Given the description of an element on the screen output the (x, y) to click on. 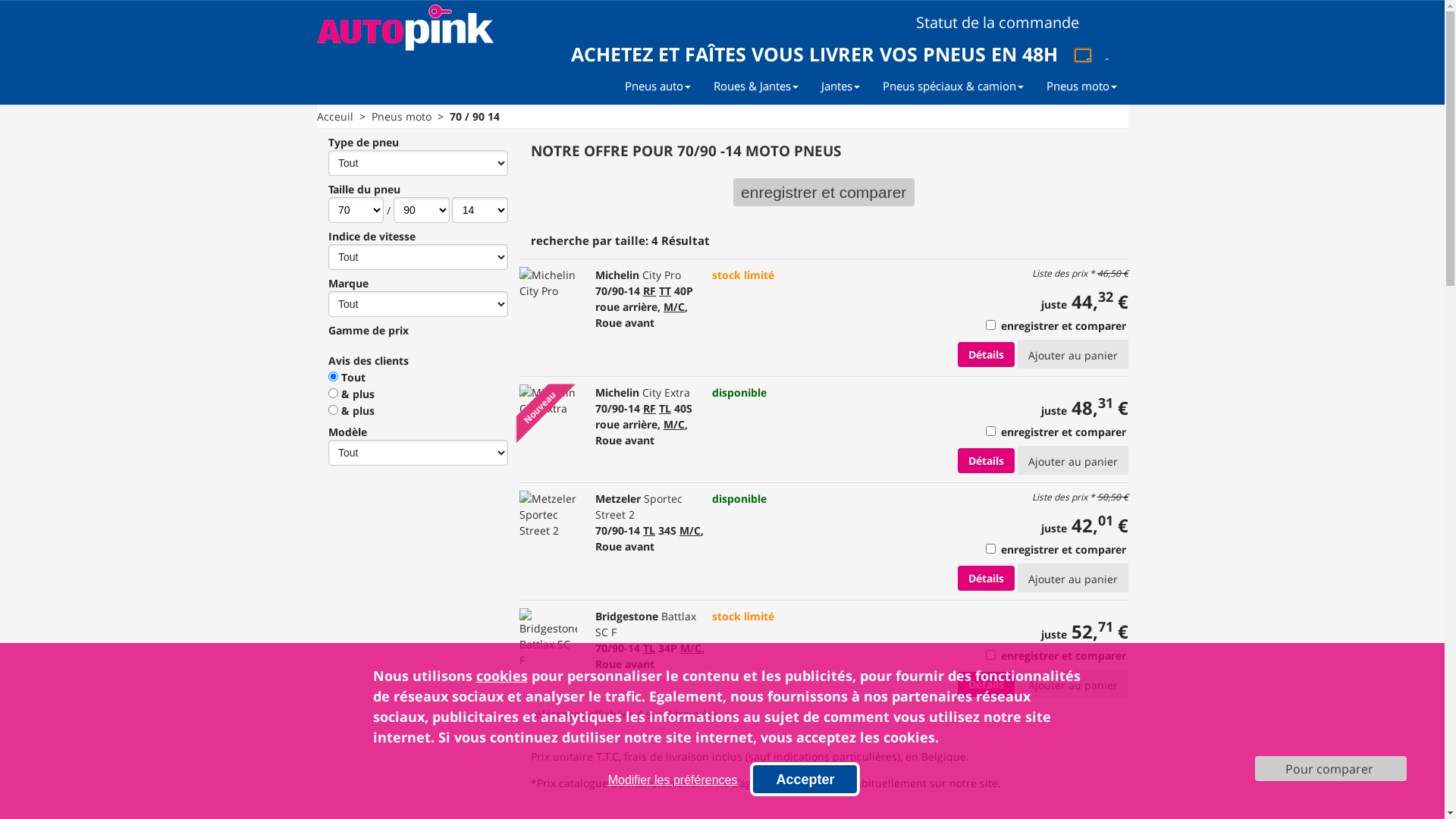
[FR] Element type: text (1082, 55)
Pneus auto Element type: text (656, 85)
Vue galerie Element type: hover (1111, 246)
Pneus moto Element type: text (1080, 85)
Sportec Street 2 Element type: text (638, 506)
Jantes Element type: text (840, 85)
City Extra Element type: text (666, 392)
City Pro Element type: text (661, 274)
Statut de la commande Element type: text (1004, 22)
enregistrer et comparer Element type: text (823, 192)
Ajouter au panier Element type: text (1072, 459)
Pneus moto Element type: text (401, 116)
list Element type: text (1099, 246)
[NL] Element type: text (1101, 55)
Ajouter au panier Element type: text (1072, 353)
Accepter Element type: text (804, 779)
gallery Element type: text (1111, 246)
Ajouter au panier Element type: text (1072, 577)
Pour comparer Element type: text (1330, 768)
cookies Element type: text (501, 675)
Roues & Jantes Element type: text (755, 85)
Acceuil Element type: text (334, 116)
Vue liste Element type: hover (1099, 246)
Battlax SC F Element type: text (645, 623)
Ajouter au panier Element type: text (1072, 683)
